Given the description of an element on the screen output the (x, y) to click on. 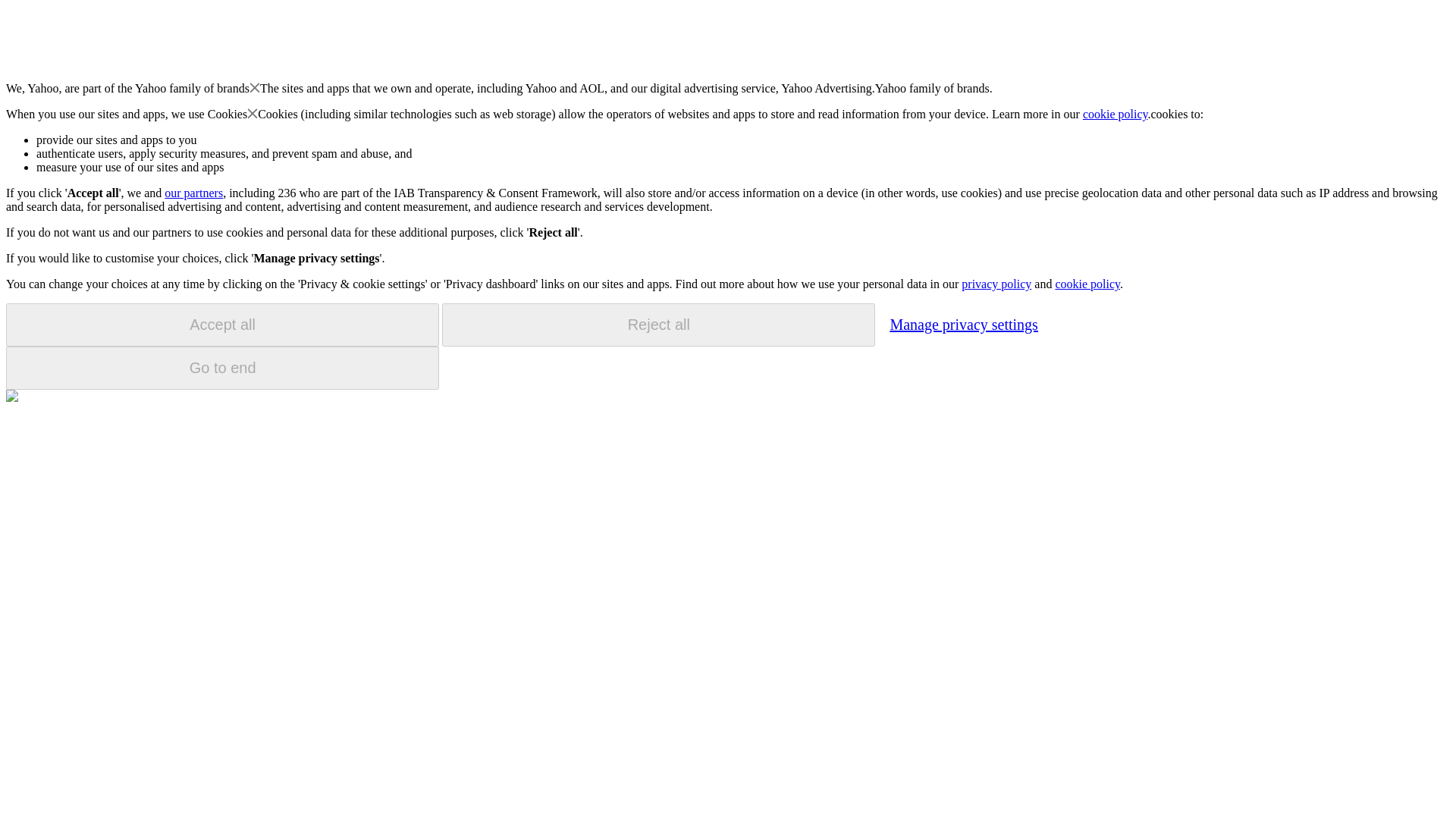
Go to end (222, 367)
Accept all (222, 324)
cookie policy (1086, 283)
our partners (193, 192)
cookie policy (1115, 113)
Manage privacy settings (963, 323)
Reject all (658, 324)
privacy policy (995, 283)
